Given the description of an element on the screen output the (x, y) to click on. 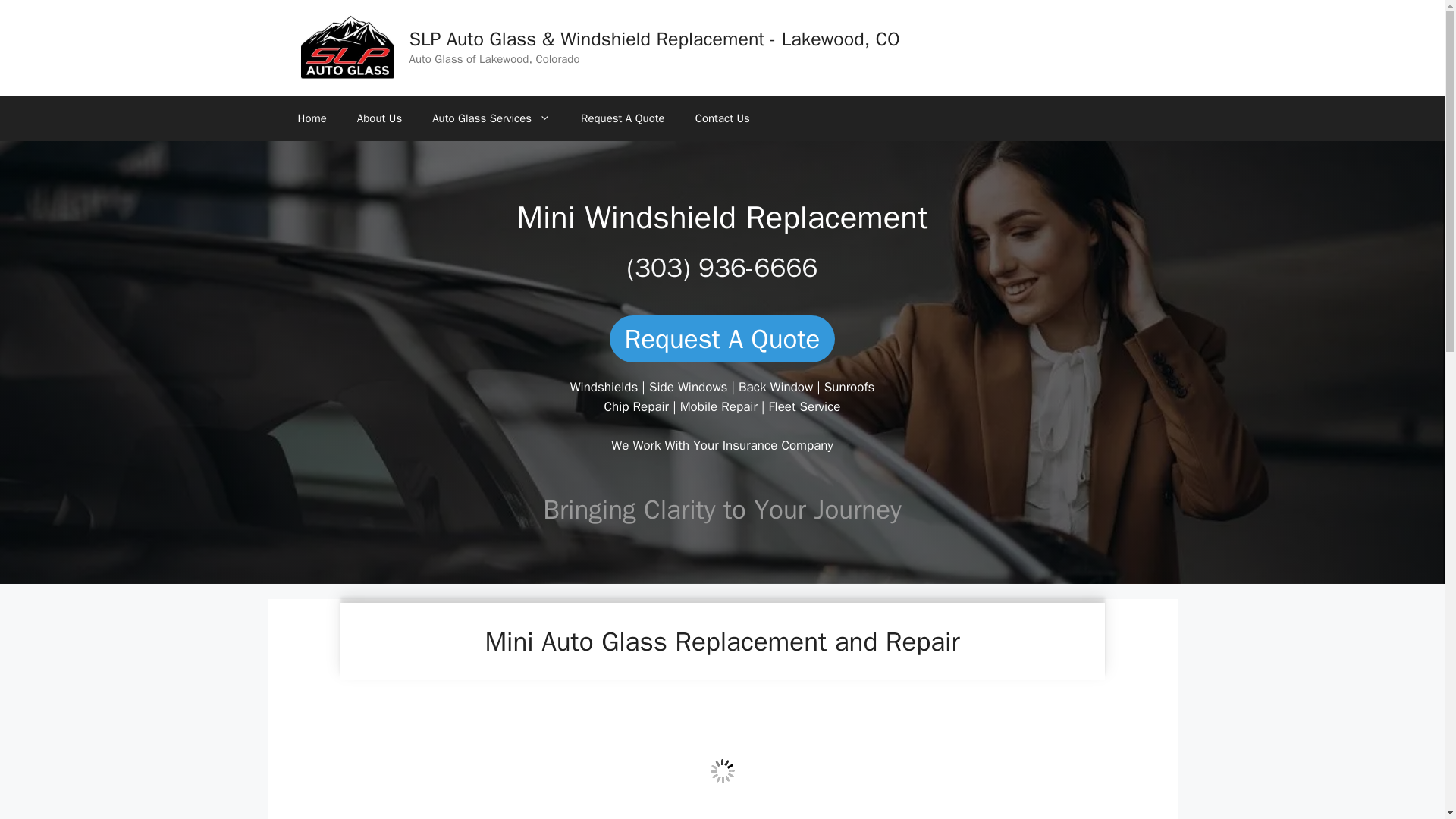
Home (311, 117)
About Us (379, 117)
Request A Quote (622, 117)
Contact Us (722, 117)
Request A Quote (722, 338)
Auto Glass Services (491, 117)
